Given the description of an element on the screen output the (x, y) to click on. 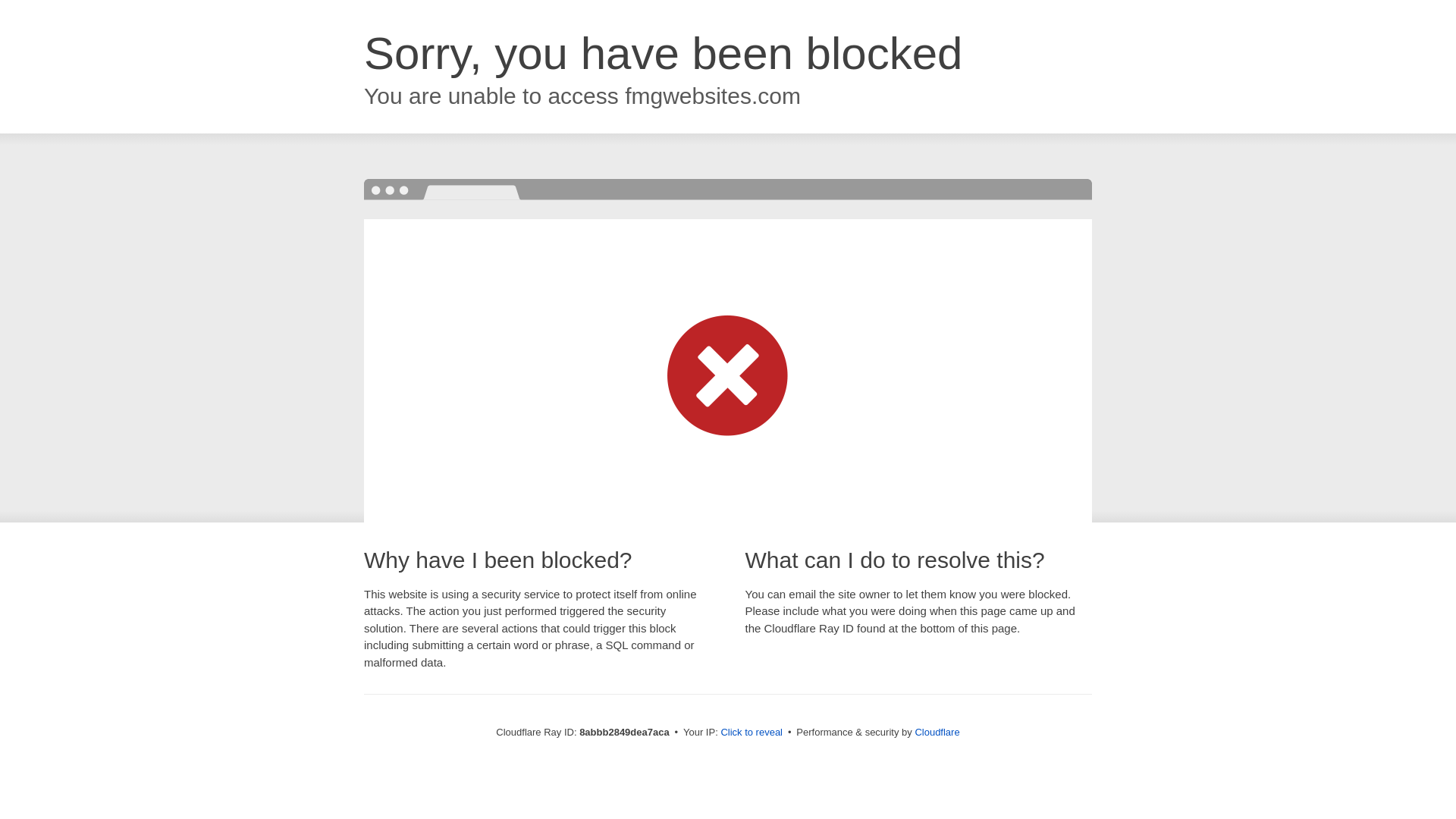
Click to reveal (751, 732)
Cloudflare (936, 731)
